Given the description of an element on the screen output the (x, y) to click on. 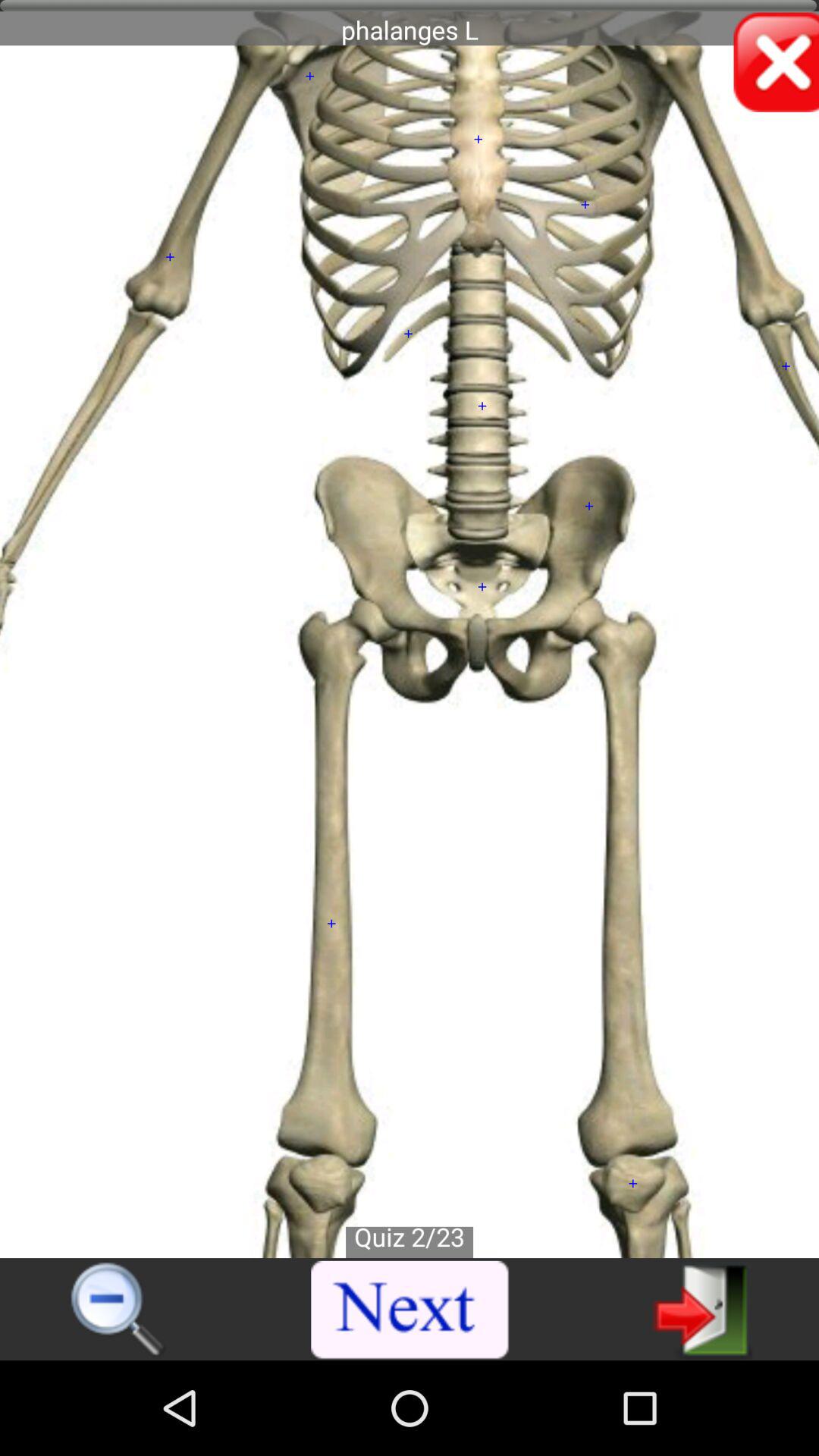
open next page (410, 1310)
